Given the description of an element on the screen output the (x, y) to click on. 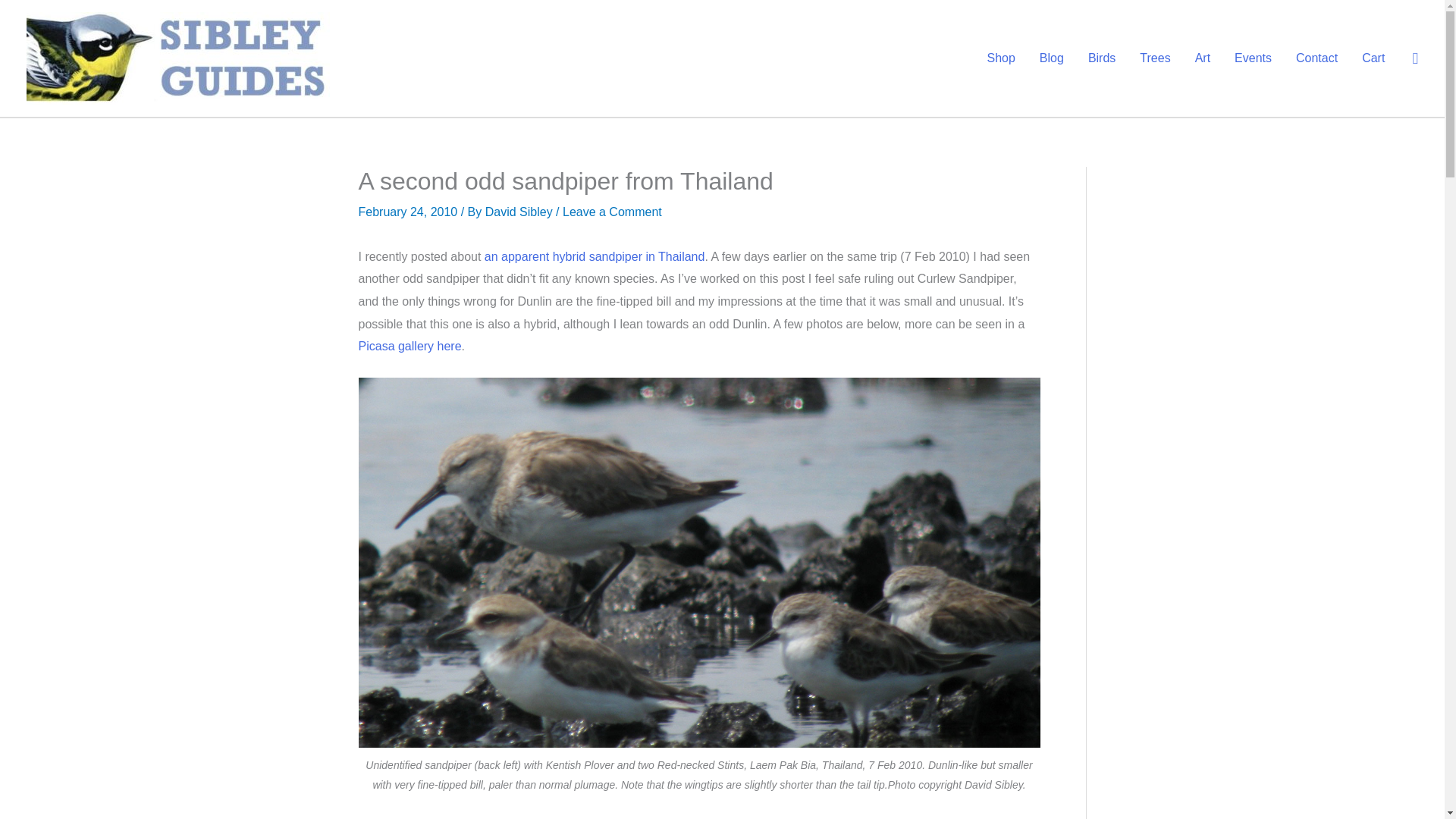
Events (1253, 58)
Contact (1316, 58)
Birds (1100, 58)
David Sibley (520, 211)
Shop (1000, 58)
Trees (1154, 58)
Picasa gallery here (409, 345)
an apparent hybrid sandpiper in Thailand (594, 256)
View all posts by David Sibley (520, 211)
Leave a Comment (612, 211)
Blog (1051, 58)
